Given the description of an element on the screen output the (x, y) to click on. 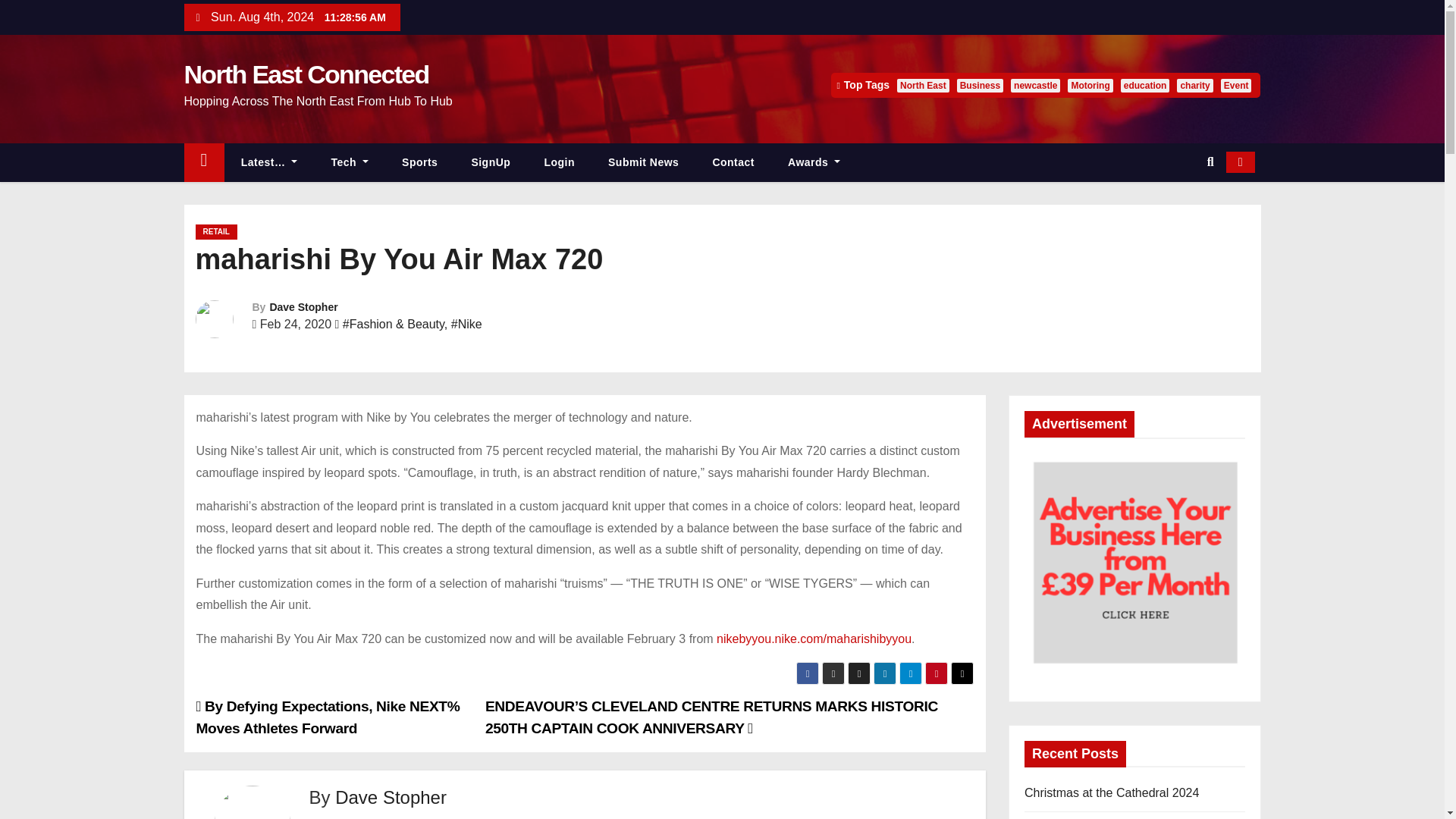
Awards (814, 162)
Sports (419, 162)
Motoring (1089, 85)
Dave Stopher (303, 306)
Login (559, 162)
North East Connected (305, 73)
Login (559, 162)
Home (203, 162)
SignUp (490, 162)
SignUp (490, 162)
Contact (733, 162)
Sports (419, 162)
RETAIL (216, 231)
Contact (733, 162)
Submit News (643, 162)
